Given the description of an element on the screen output the (x, y) to click on. 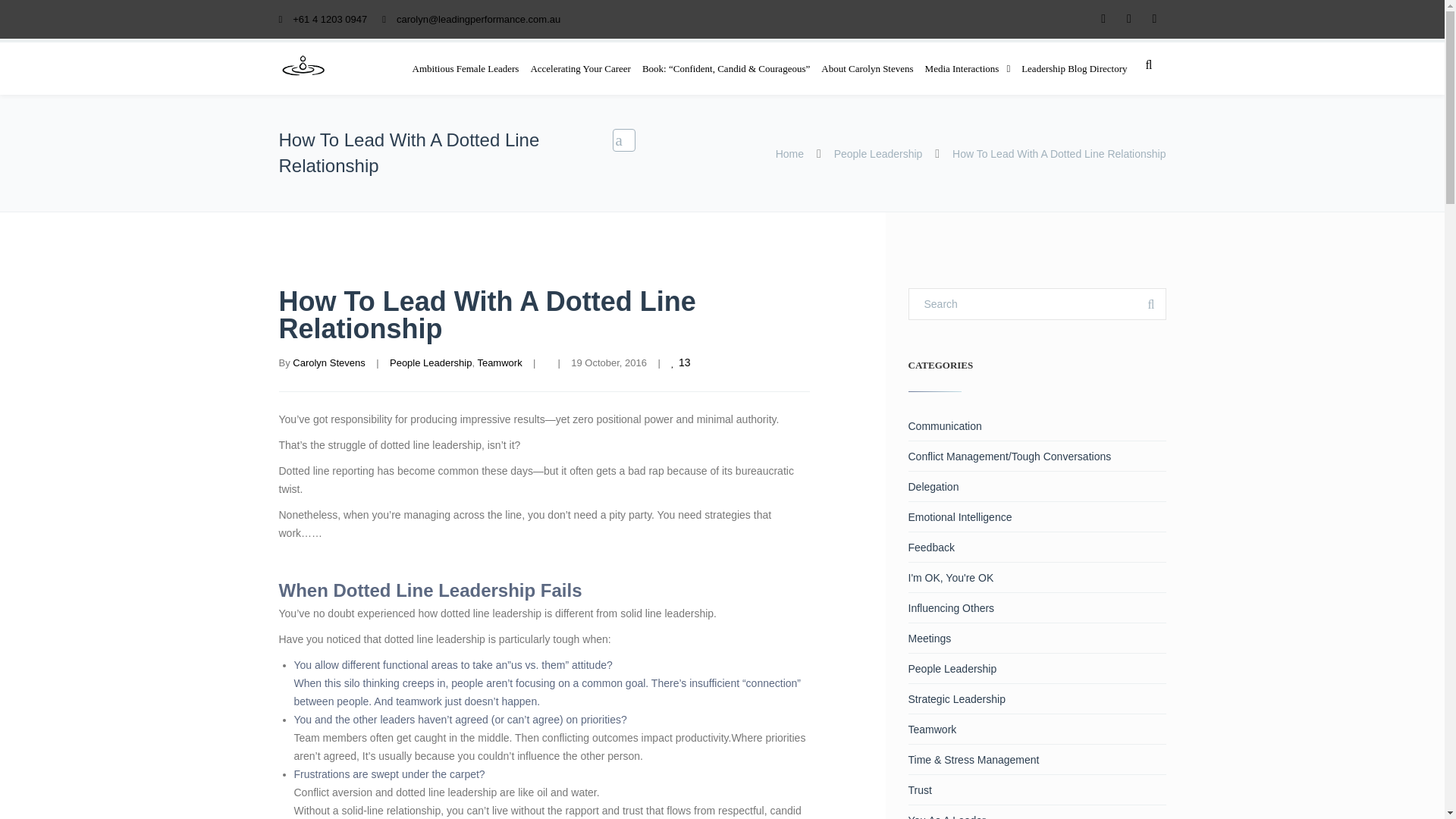
Ambitious Female Leaders (465, 68)
Leading Performance (303, 65)
How To Lead With A Dotted Line Relationship (487, 314)
Teamwork (499, 362)
Leadership Blog Directory (1073, 68)
Posts by Carolyn Stevens (328, 362)
Like this (682, 362)
About Carolyn Stevens (866, 68)
How To Lead With A Dotted Line Relationship (487, 314)
Accelerating Your Career (579, 68)
